Given the description of an element on the screen output the (x, y) to click on. 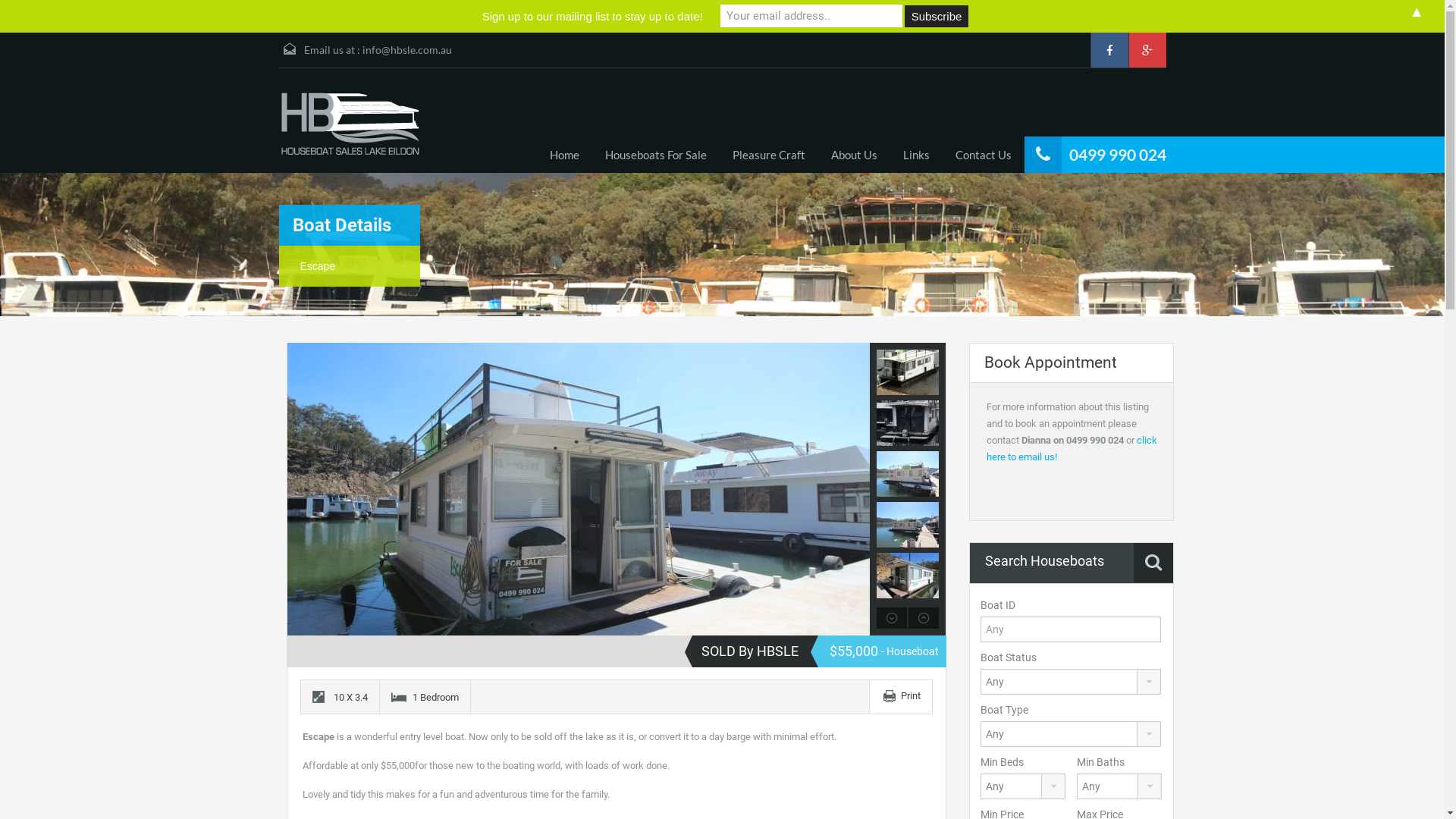
House Boat Sales Lake Eildon Element type: hover (349, 124)
0499 990 024 Element type: text (1117, 153)
Contact Us Element type: text (982, 154)
Subscribe Element type: text (936, 16)
Print Element type: text (910, 695)
Links Element type: text (916, 154)
Pleasure Craft Element type: text (767, 154)
Houseboats For Sale Element type: text (654, 154)
Home Element type: text (564, 154)
About Us Element type: text (853, 154)
info@hbsle.com.au Element type: text (406, 49)
click here to email us! Element type: text (1070, 448)
